Given the description of an element on the screen output the (x, y) to click on. 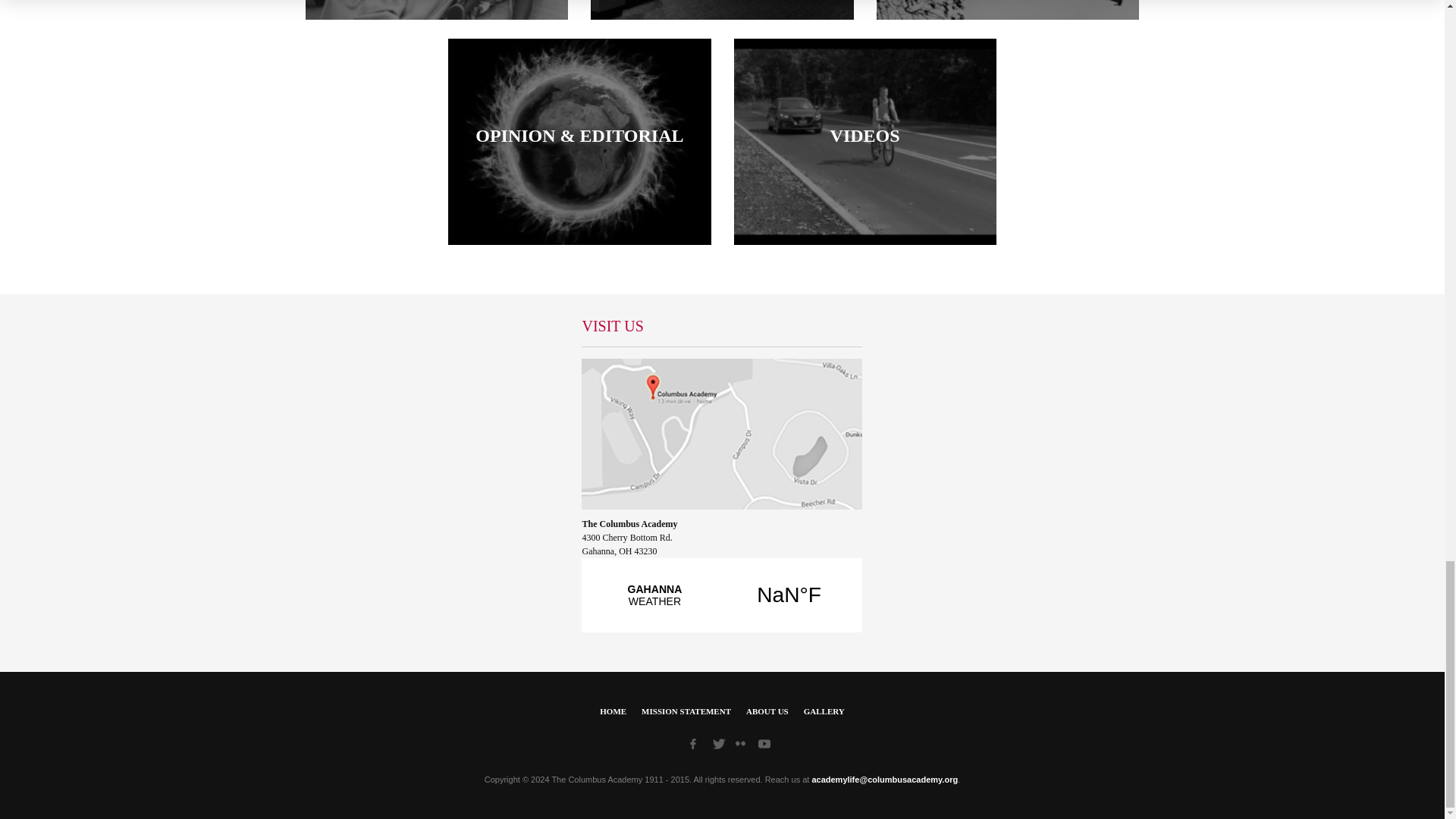
Weather Widget (720, 602)
